Given the description of an element on the screen output the (x, y) to click on. 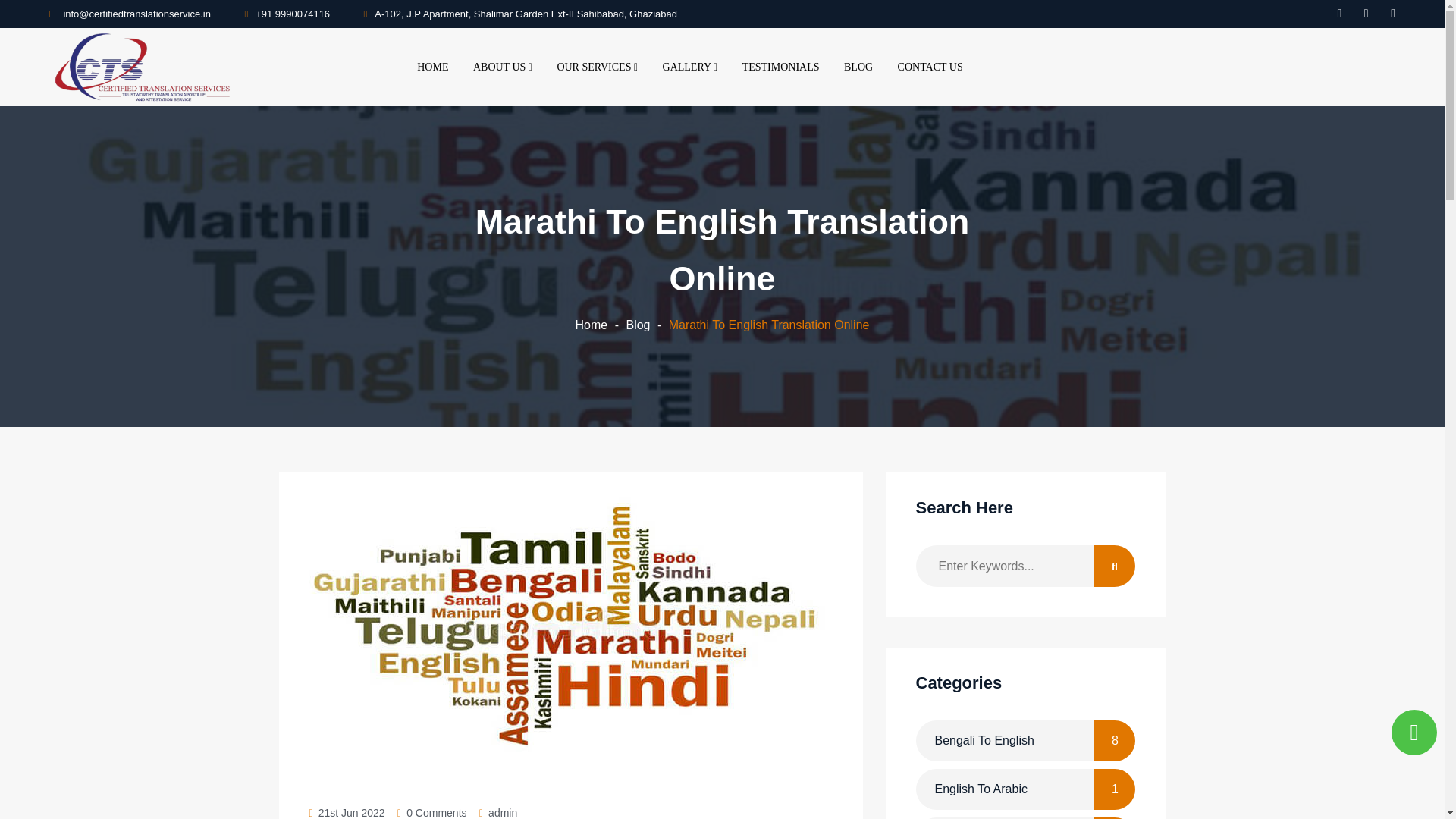
TESTIMONIALS (780, 66)
CONTACT US (930, 66)
Blog (637, 324)
BLOG (857, 66)
OUR SERVICES (596, 66)
0 Comments (435, 810)
HOME (432, 66)
GALLERY (690, 66)
Home (591, 324)
ABOUT US (503, 66)
